Given the description of an element on the screen output the (x, y) to click on. 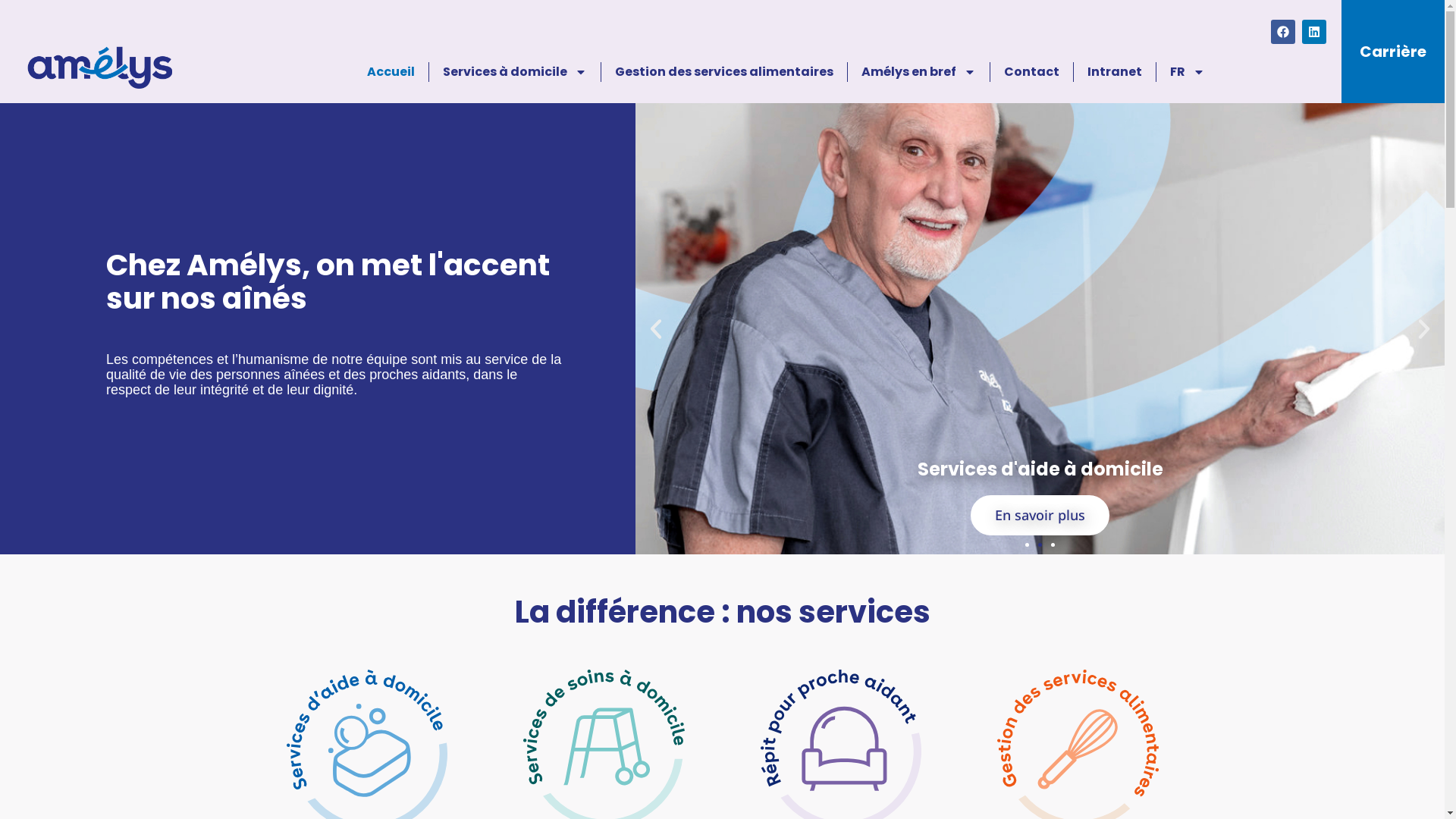
Accueil Element type: text (390, 71)
Gestion des services alimentaires Element type: text (724, 71)
Contact Element type: text (1031, 71)
FR Element type: text (1187, 71)
Intranet Element type: text (1114, 71)
